Given the description of an element on the screen output the (x, y) to click on. 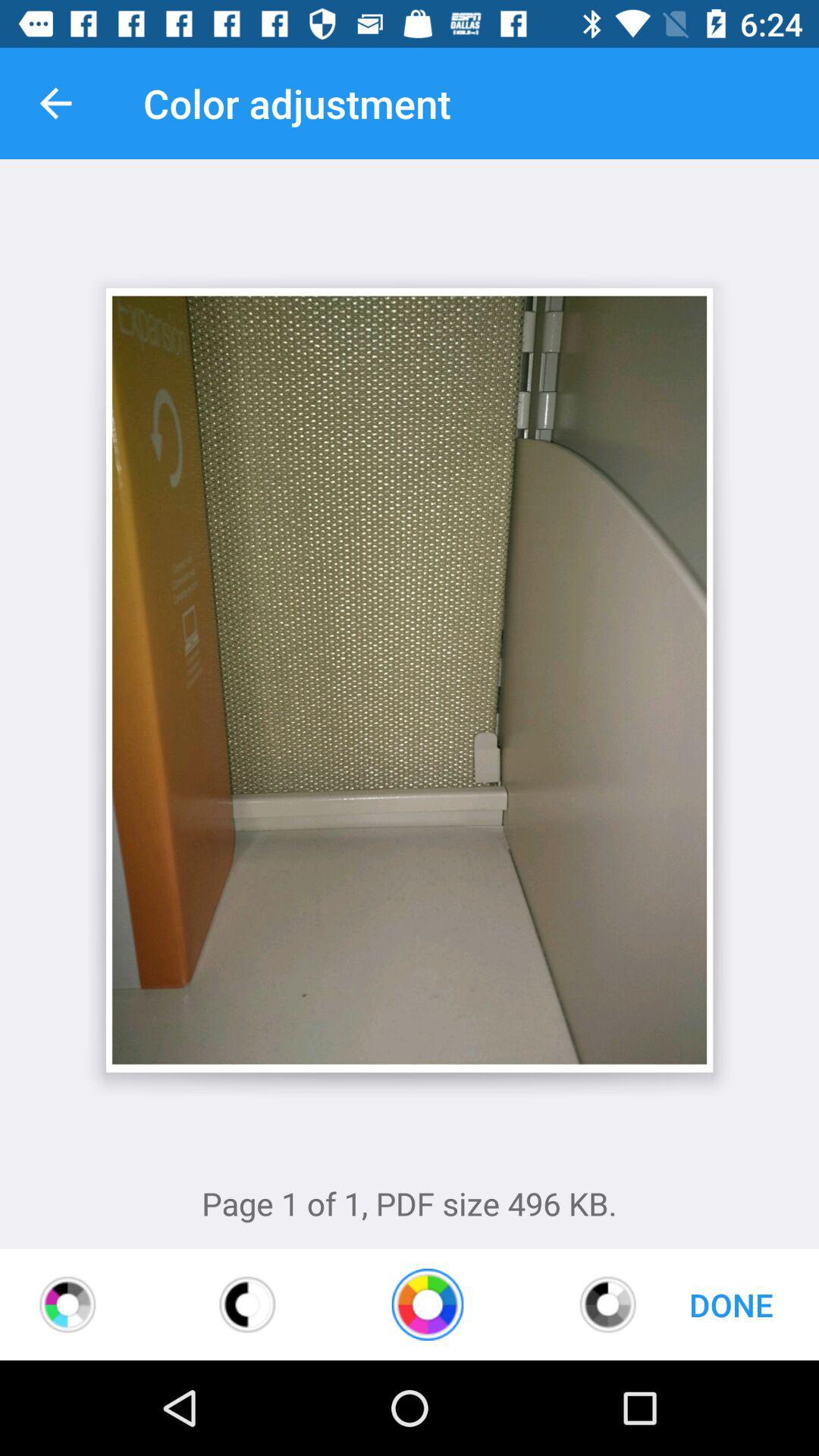
turn off icon below the page 1 of icon (247, 1304)
